Given the description of an element on the screen output the (x, y) to click on. 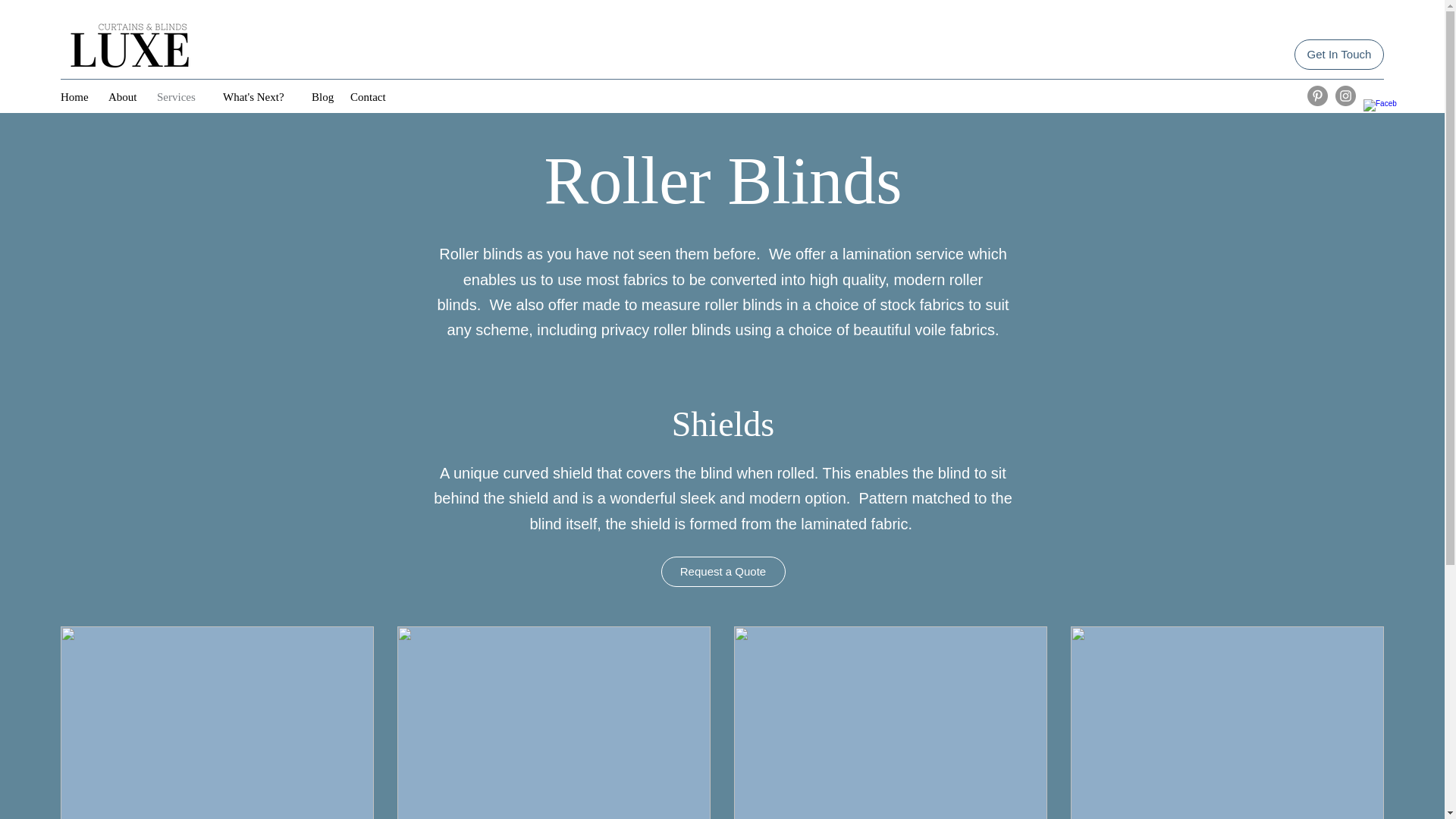
Home (76, 96)
Get In Touch (1339, 54)
Services (182, 96)
Blog (323, 96)
Contact (371, 96)
Request a Quote (723, 571)
About (124, 96)
What's Next? (259, 96)
